Given the description of an element on the screen output the (x, y) to click on. 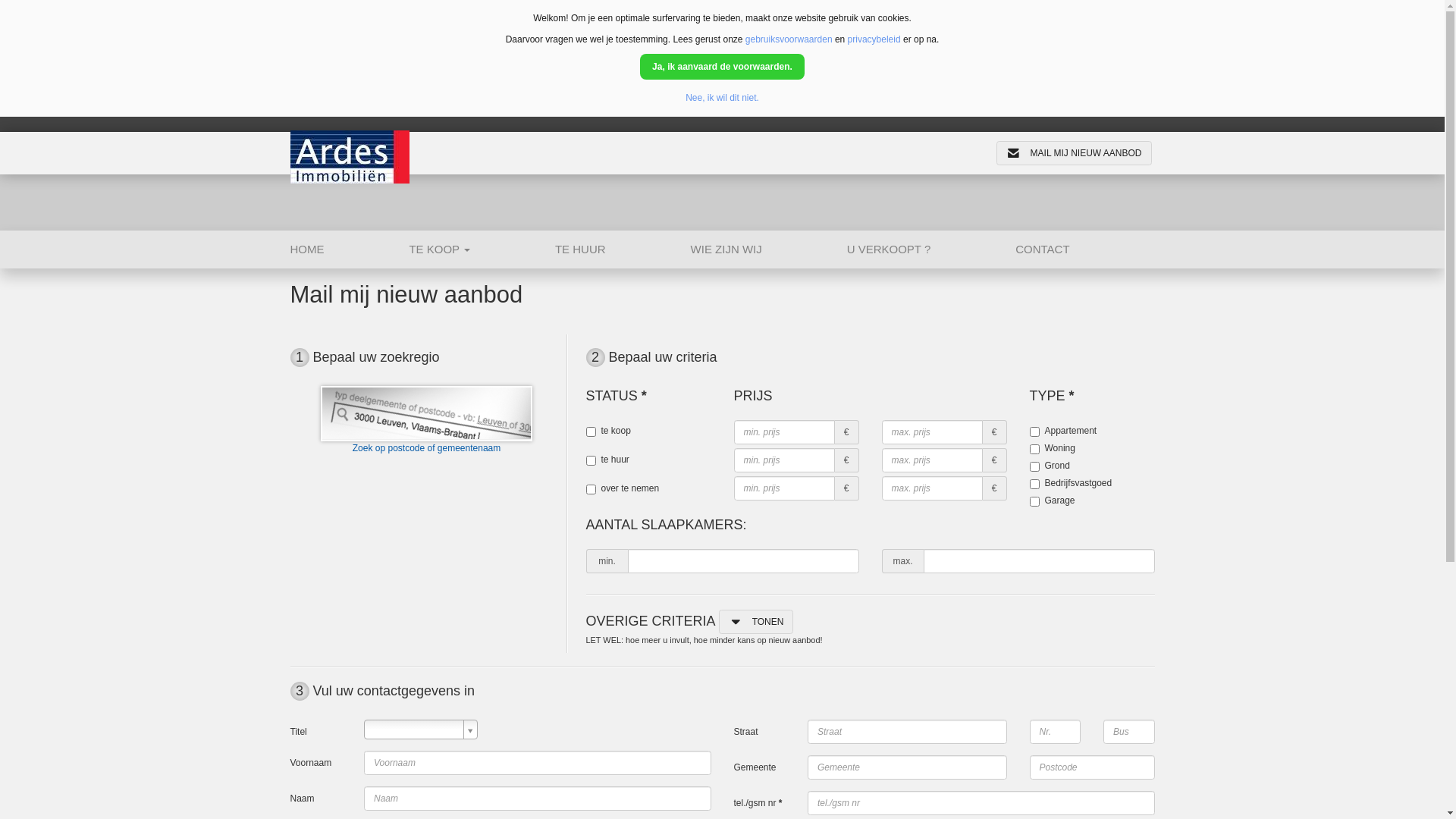
U VERKOOPT ? Element type: text (931, 249)
Ja, ik aanvaard de voorwaarden. Element type: text (722, 66)
CONTACT Element type: text (1084, 249)
  Element type: text (420, 729)
Nee, ik wil dit niet. Element type: text (722, 97)
privacybeleid Element type: text (873, 39)
gebruiksvoorwaarden Element type: text (788, 39)
TE HUUR Element type: text (622, 249)
HOME Element type: text (348, 249)
Zoek op postcode of gemeentenaam Element type: text (426, 420)
TE KOOP Element type: text (481, 249)
TONEN Element type: text (755, 621)
MAIL MIJ NIEUW AANBOD Element type: text (1073, 153)
WIE ZIJN WIJ Element type: text (768, 249)
